Given the description of an element on the screen output the (x, y) to click on. 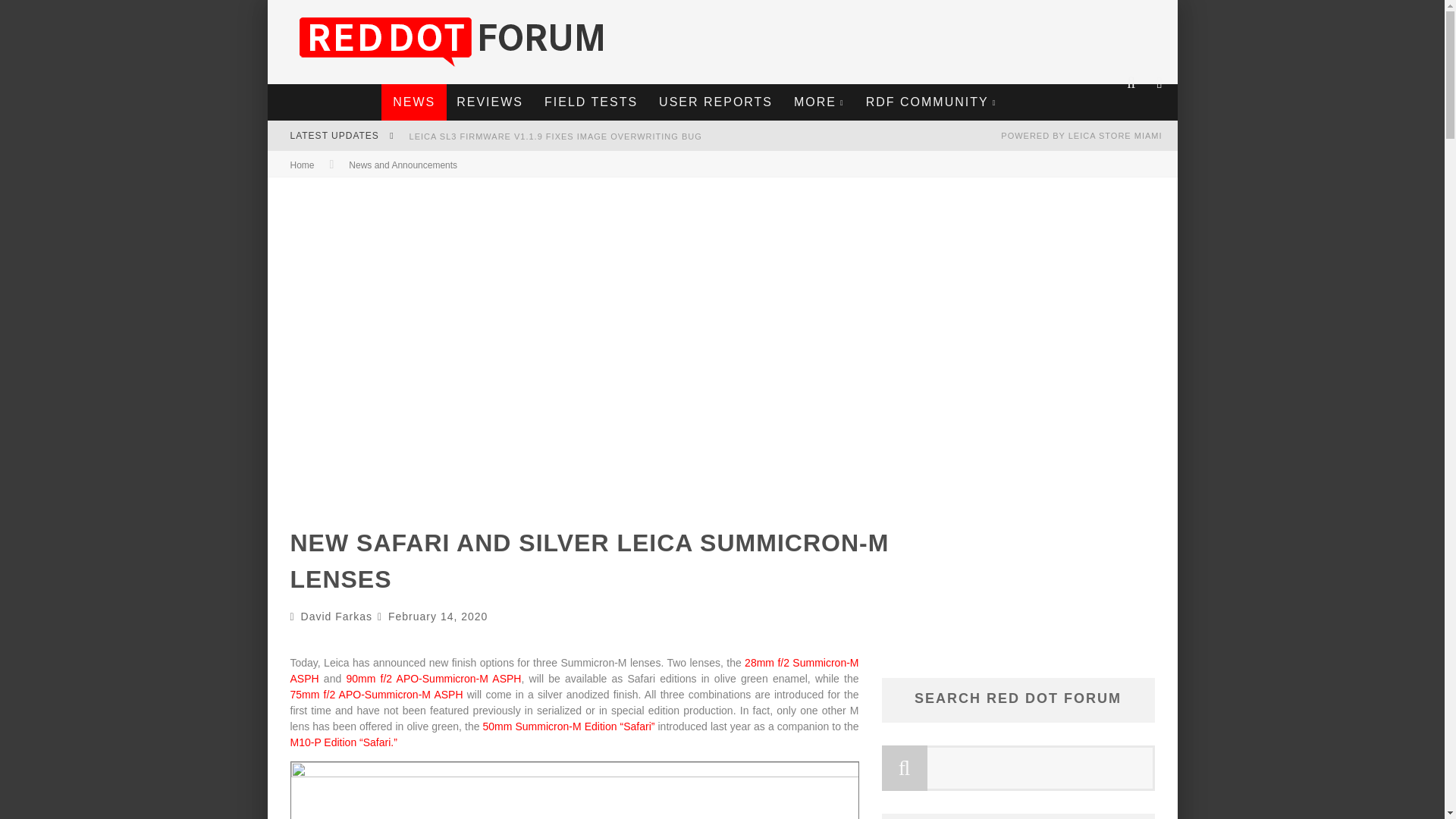
Leica SL3 Firmware v1.1.9 Fixes Image Overwriting Bug (555, 135)
NEWS (413, 102)
Log In (721, 458)
Register (721, 475)
View all posts in News and Announcements (403, 164)
